Given the description of an element on the screen output the (x, y) to click on. 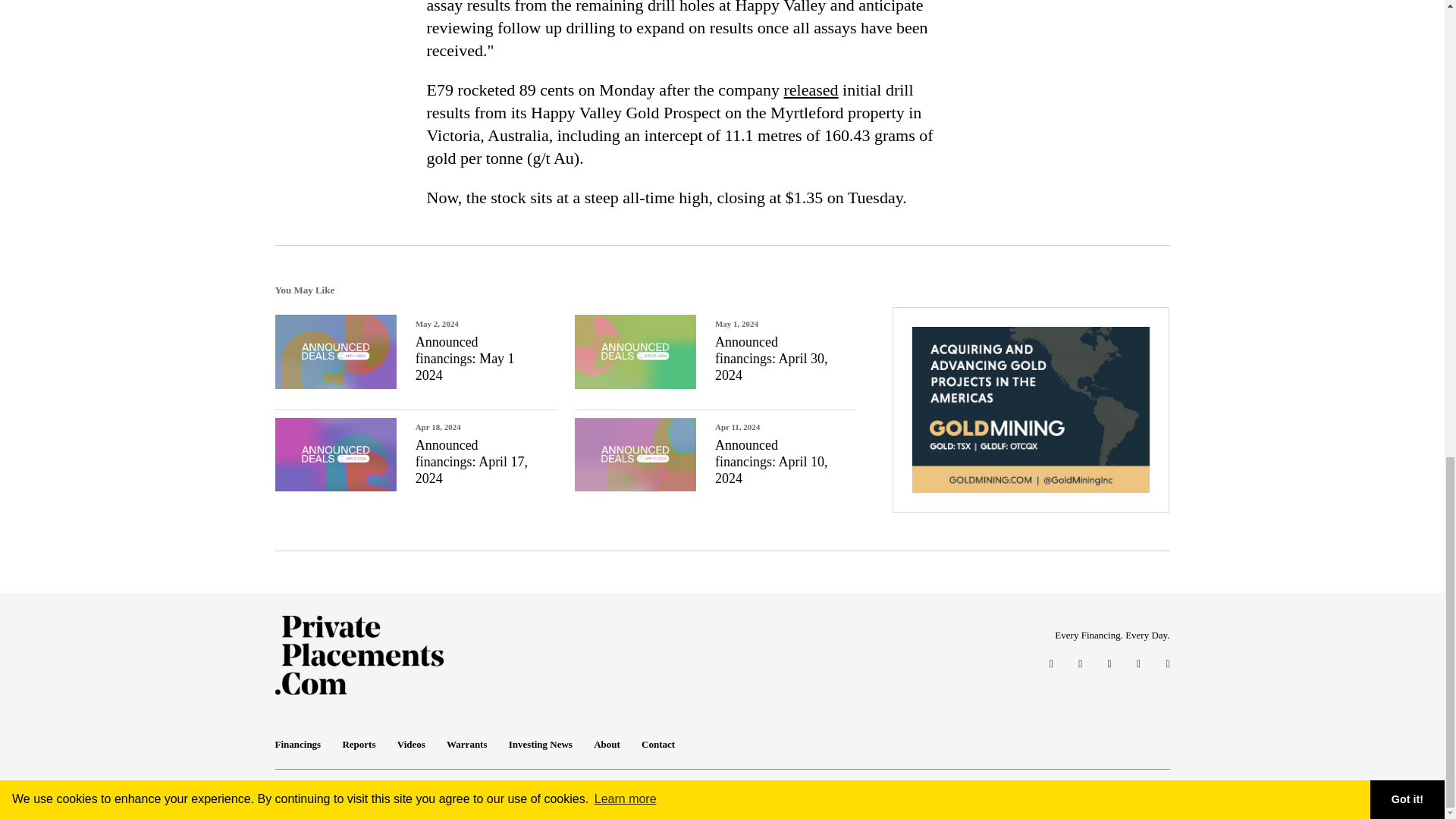
released (811, 89)
Announced financings: April 17, 2024 (470, 461)
Announced financings: April 30, 2024 (770, 358)
Announced financings: May 1 2024 (464, 358)
Announced financings: April 10, 2024 (770, 461)
